Given the description of an element on the screen output the (x, y) to click on. 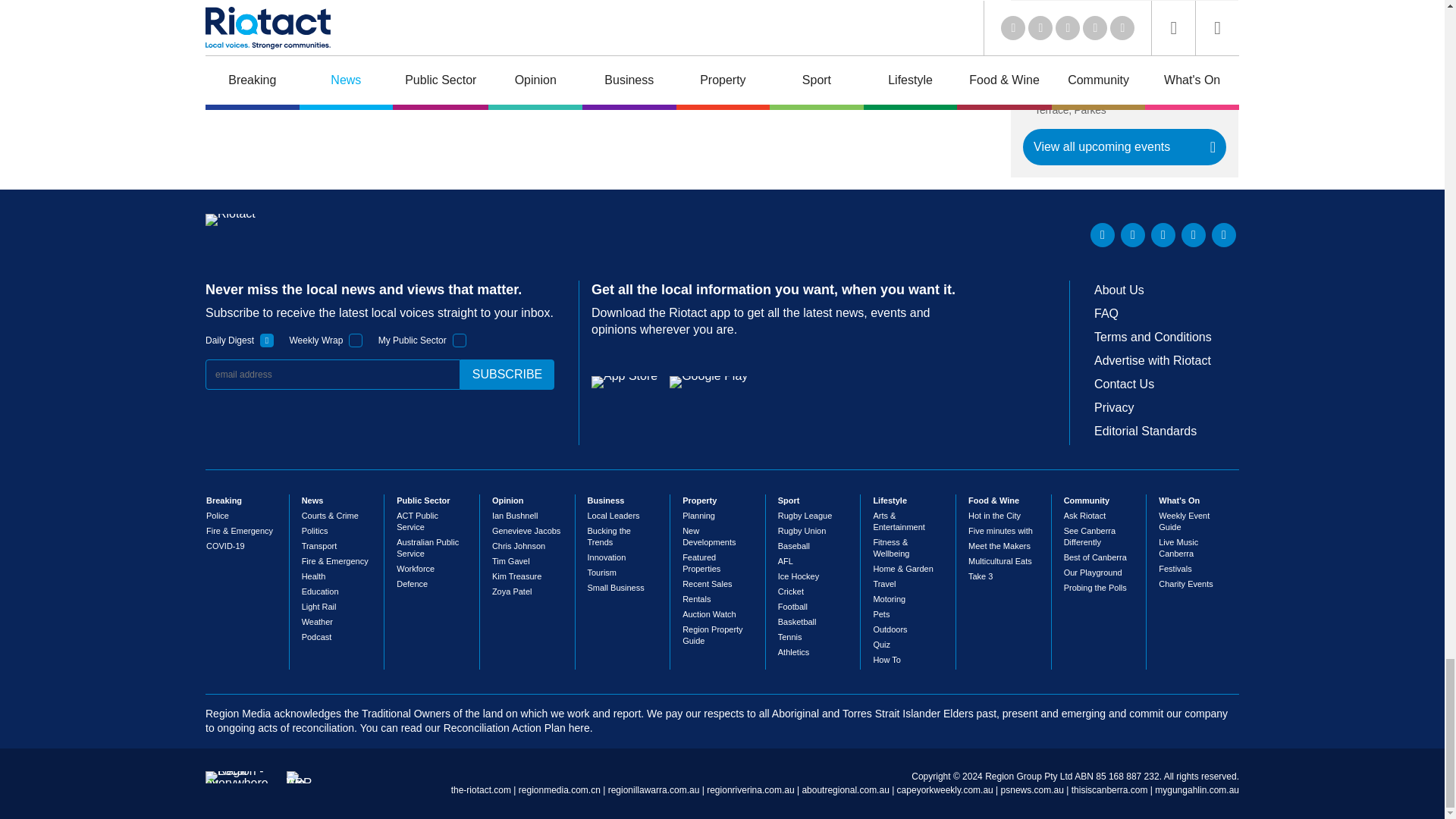
subscribe (507, 374)
LinkedIn (1102, 234)
1 (458, 340)
1 (266, 340)
1 (355, 340)
